Given the description of an element on the screen output the (x, y) to click on. 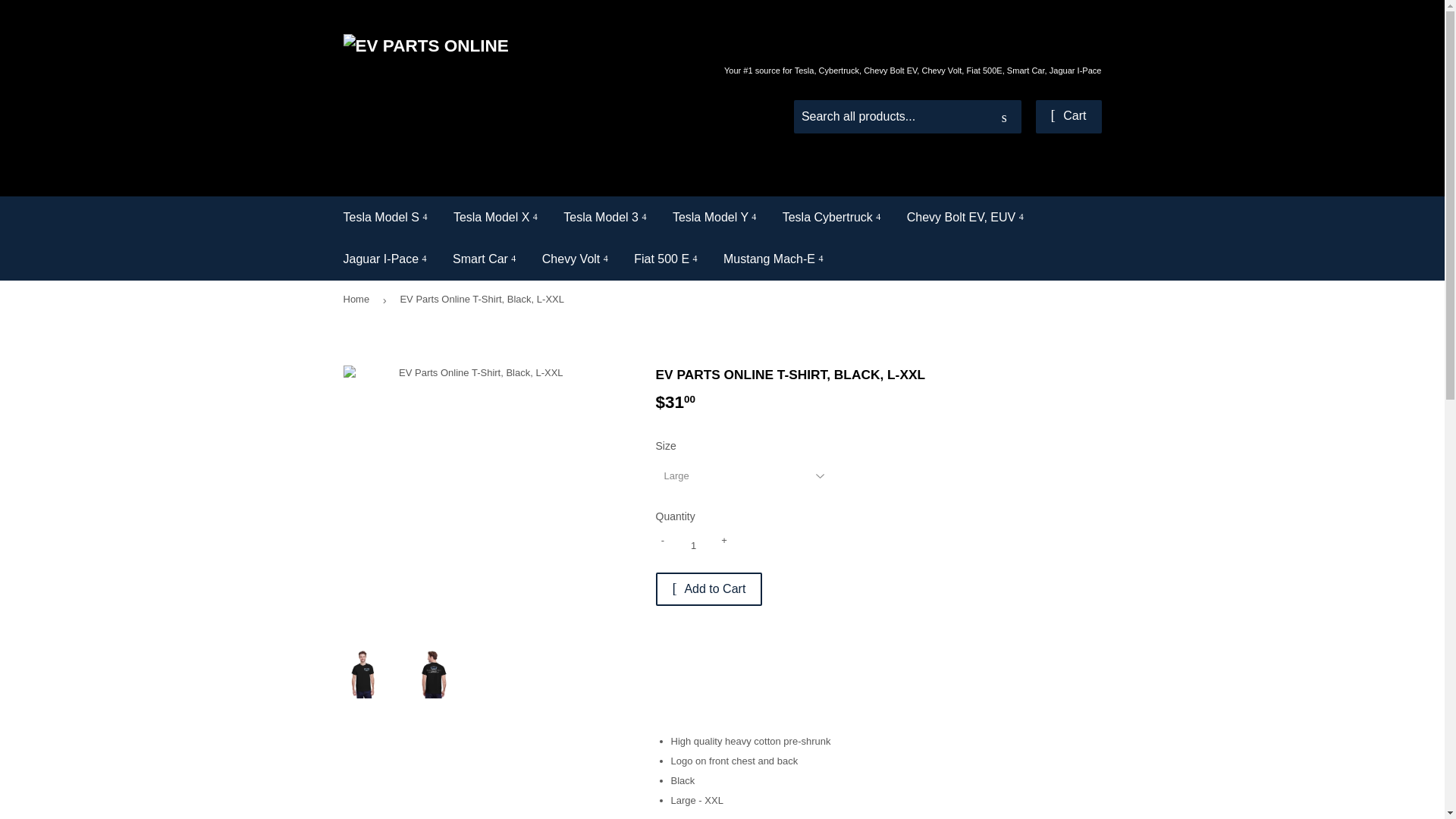
1 (692, 545)
Cart (1068, 116)
Search (1004, 117)
